Given the description of an element on the screen output the (x, y) to click on. 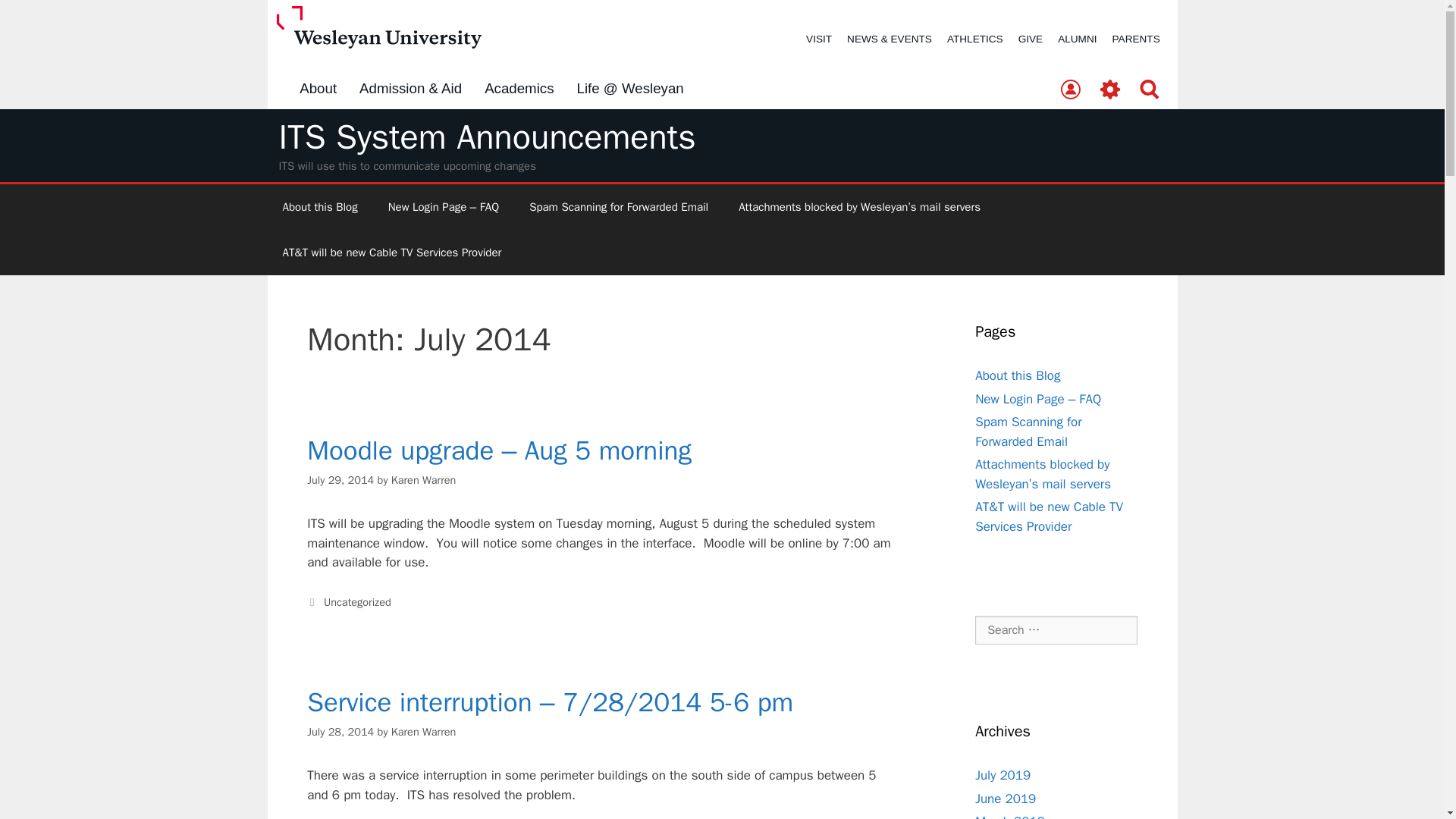
Directory (1069, 90)
ITS System Announcements (487, 137)
Karen Warren (424, 479)
Spam Scanning for Forwarded Email (618, 207)
About this Blog (1017, 375)
About (317, 89)
Academics (518, 89)
Tools (1109, 90)
View all posts by Karen Warren (424, 479)
PARENTS (1136, 39)
